Given the description of an element on the screen output the (x, y) to click on. 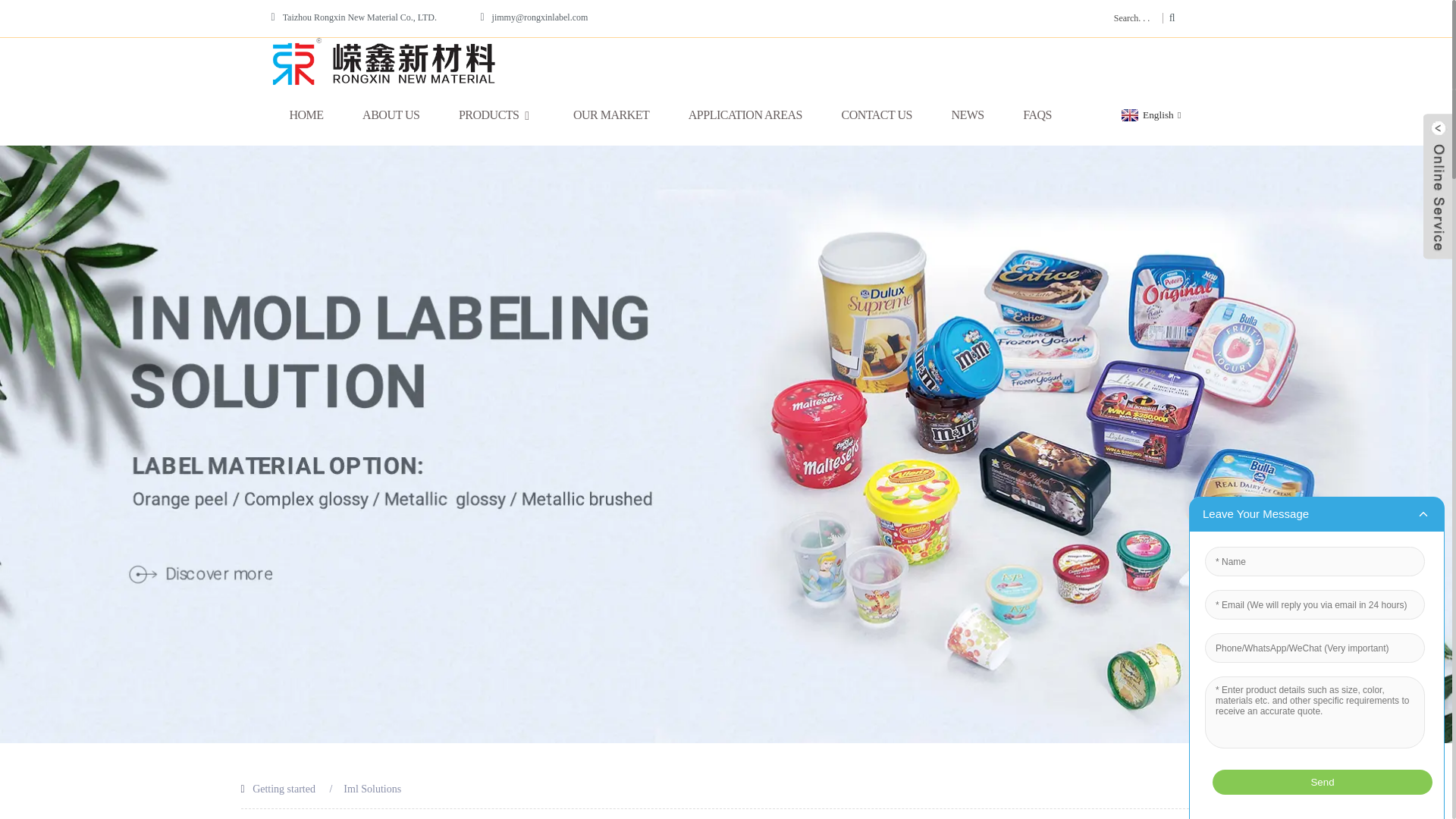
NEWS (967, 115)
HOME (306, 115)
CONTACT US (876, 115)
OUR MARKET (611, 115)
PRODUCTS (496, 115)
Iml Solutions (372, 788)
ABOUT US (390, 115)
English (1149, 114)
APPLICATION AREAS (745, 115)
Getting started (283, 788)
FAQS (1037, 115)
